Given the description of an element on the screen output the (x, y) to click on. 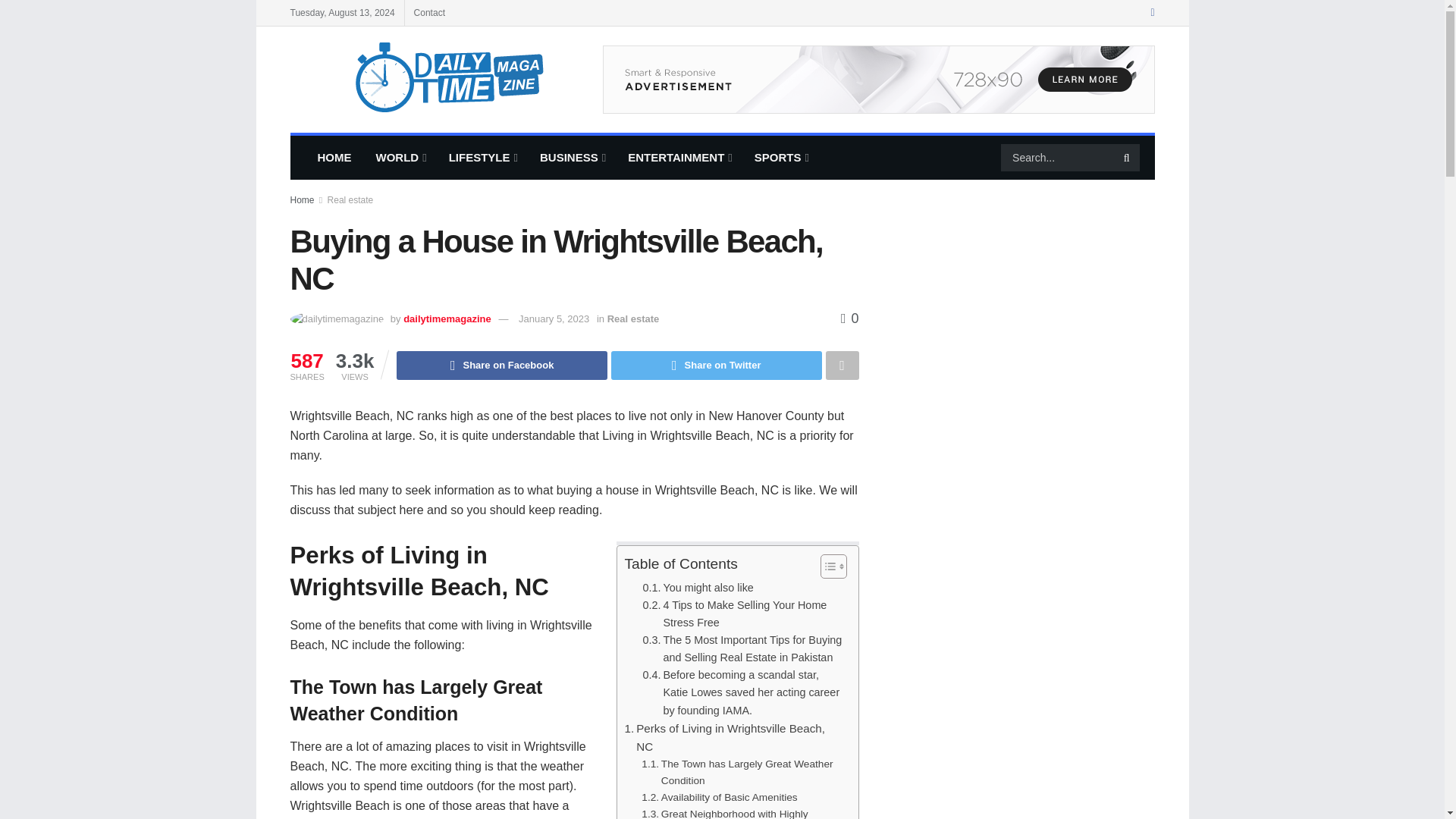
HOME (333, 157)
WORLD (400, 157)
LIFESTYLE (481, 157)
Contact (429, 12)
